Given the description of an element on the screen output the (x, y) to click on. 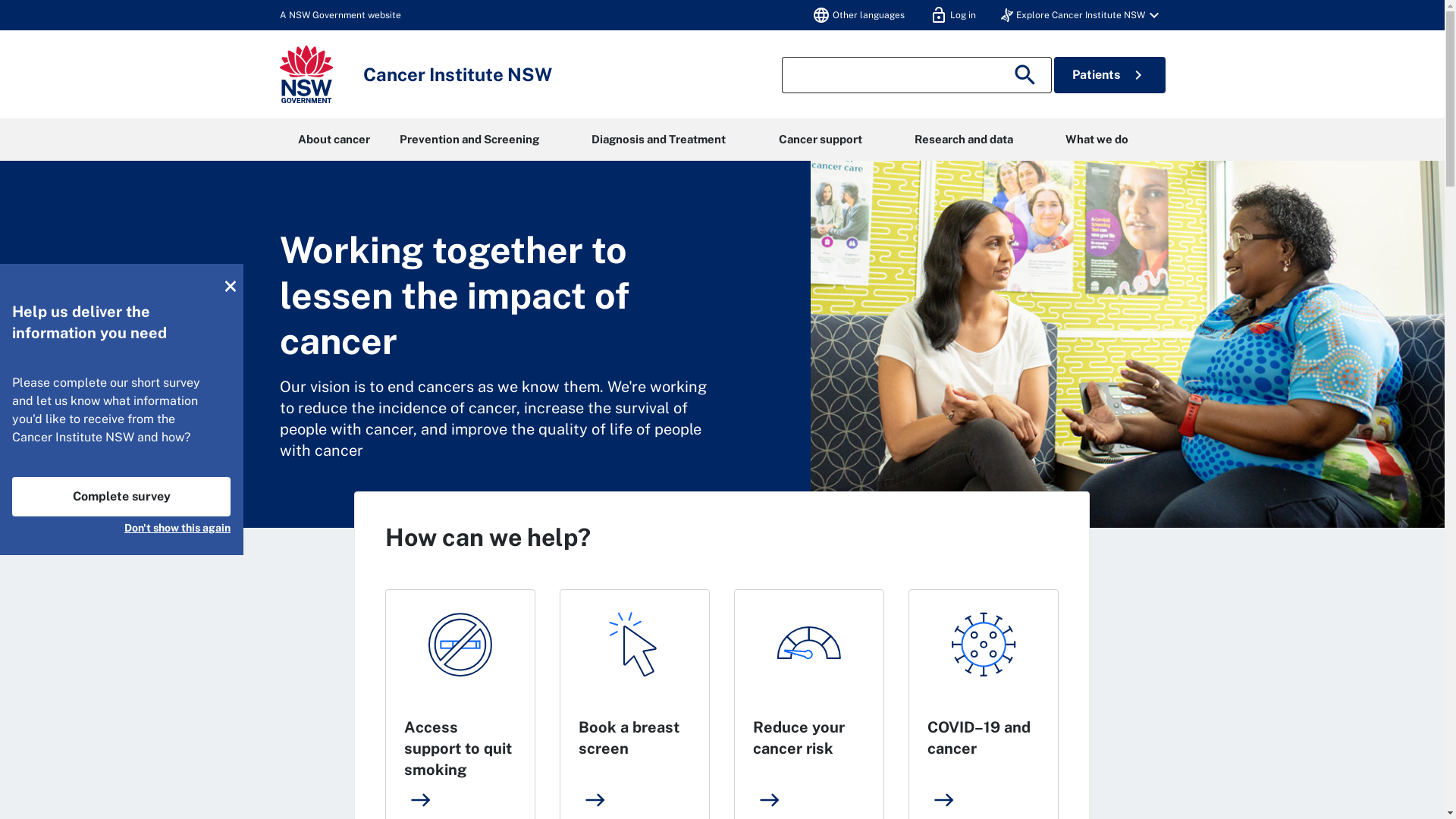
Reduce your cancer risk Element type: text (798, 737)
Prevention and Screening Element type: text (468, 139)
NSW Government Element type: text (305, 74)
search
Search Element type: text (1028, 74)
Cancer support Element type: text (820, 139)
What we do Element type: text (1096, 139)
close
Close message Element type: text (230, 285)
Patients chevron_right Element type: text (1109, 74)
lock_open
Log in Element type: text (952, 15)
Diagnosis and Treatment Element type: text (658, 139)
Explore Cancer Institute NSW
expand_more Element type: text (1082, 15)
Complete survey Element type: text (121, 496)
language
Other languages Element type: text (857, 15)
Research and data Element type: text (963, 139)
Don't show this again Element type: text (177, 526)
About cancer Element type: text (333, 139)
Book a breast screen Element type: text (628, 737)
Access support to quit smoking Element type: text (457, 748)
